Given the description of an element on the screen output the (x, y) to click on. 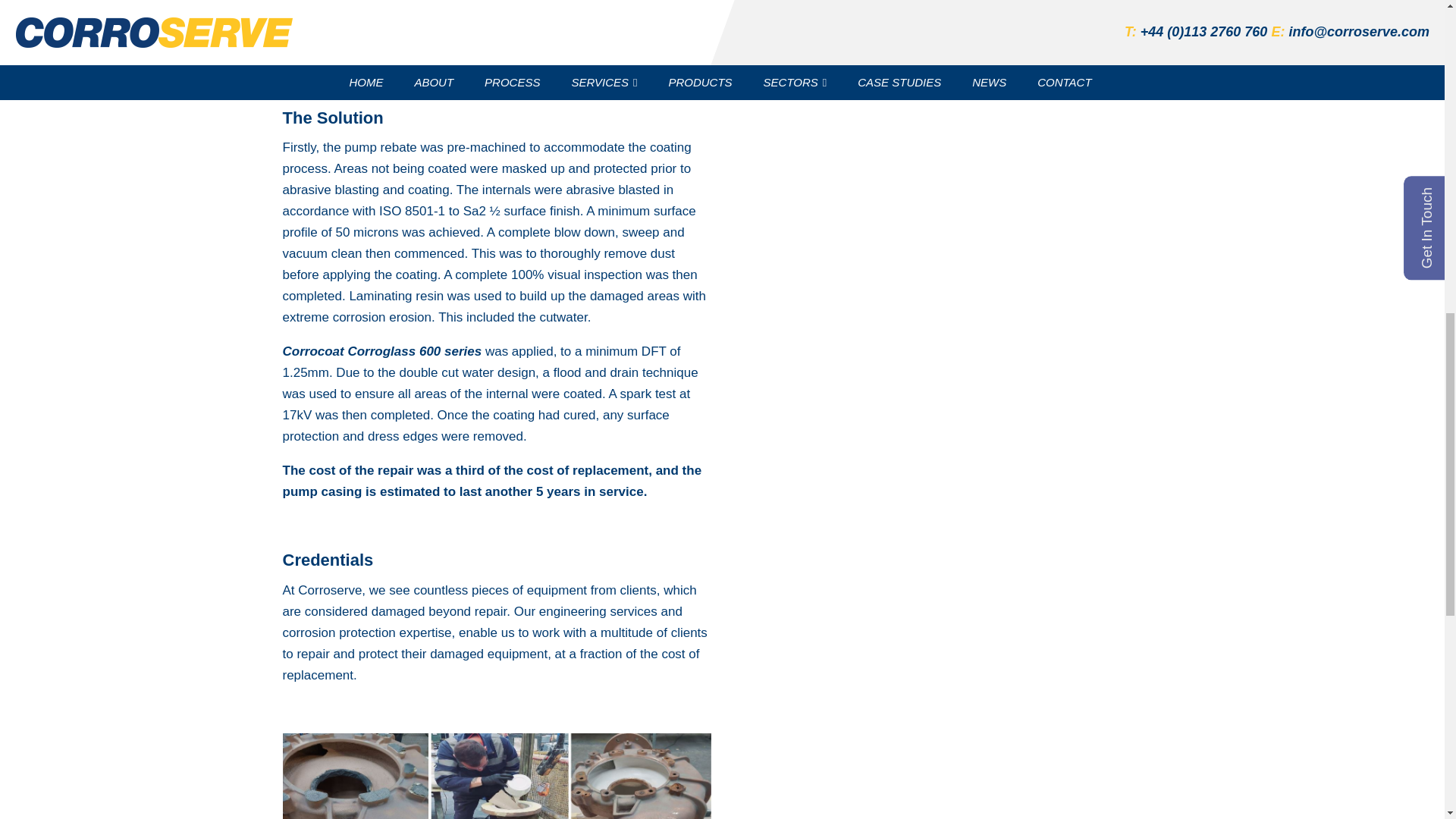
Corrocoat Corroglass 600 series (381, 350)
Corroglass 600 series (349, 49)
